Given the description of an element on the screen output the (x, y) to click on. 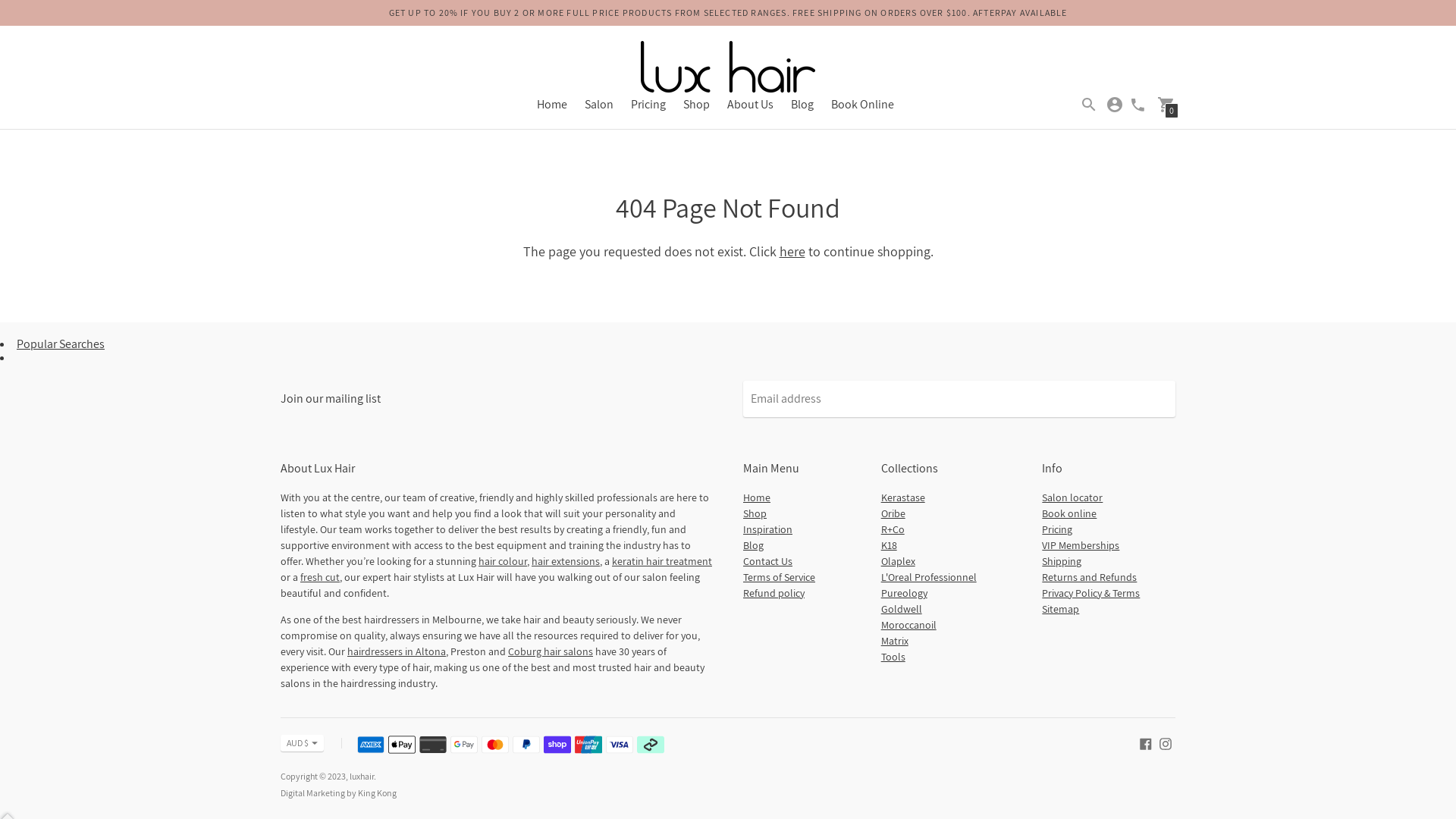
Salon locator Element type: text (1071, 497)
Goldwell Element type: text (901, 608)
hairdressers in Altona Element type: text (396, 651)
Inspiration Element type: text (767, 529)
Home Element type: text (551, 104)
VIP Memberships Element type: text (1080, 545)
Book Online Element type: text (862, 104)
Salon Element type: text (597, 104)
Olaplex Element type: text (898, 560)
Refund policy Element type: text (773, 592)
Returns and Refunds Element type: text (1088, 576)
Home Element type: text (756, 497)
0 Element type: text (1166, 103)
Popular Searches Element type: text (60, 343)
Pureology Element type: text (904, 592)
luxhair on Facebook Element type: hover (1145, 742)
Oribe Element type: text (893, 513)
Contact Us Element type: text (767, 560)
Shop Element type: text (695, 104)
About Us Element type: text (749, 104)
Blog Element type: text (801, 104)
keratin hair treatment Element type: text (661, 560)
Sitemap Element type: text (1060, 608)
Pricing Element type: text (647, 104)
Book online Element type: text (1068, 513)
luxhair Element type: text (361, 775)
Shop Element type: text (754, 513)
Tools Element type: text (893, 656)
Kerastase Element type: text (903, 497)
hair colour Element type: text (502, 560)
AUD $ Element type: text (301, 742)
Moroccanoil Element type: text (908, 624)
Matrix Element type: text (894, 640)
Pricing Element type: text (1056, 529)
Shipping Element type: text (1061, 560)
Blog Element type: text (753, 545)
R+Co Element type: text (892, 529)
Privacy Policy & Terms Element type: text (1090, 592)
hair extensions Element type: text (565, 560)
Terms of Service Element type: text (779, 576)
here Element type: text (792, 251)
Coburg hair salons Element type: text (550, 651)
luxhair on Instagram Element type: hover (1165, 742)
L'Oreal Professionnel Element type: text (928, 576)
K18 Element type: text (889, 545)
fresh cut Element type: text (319, 576)
